Given the description of an element on the screen output the (x, y) to click on. 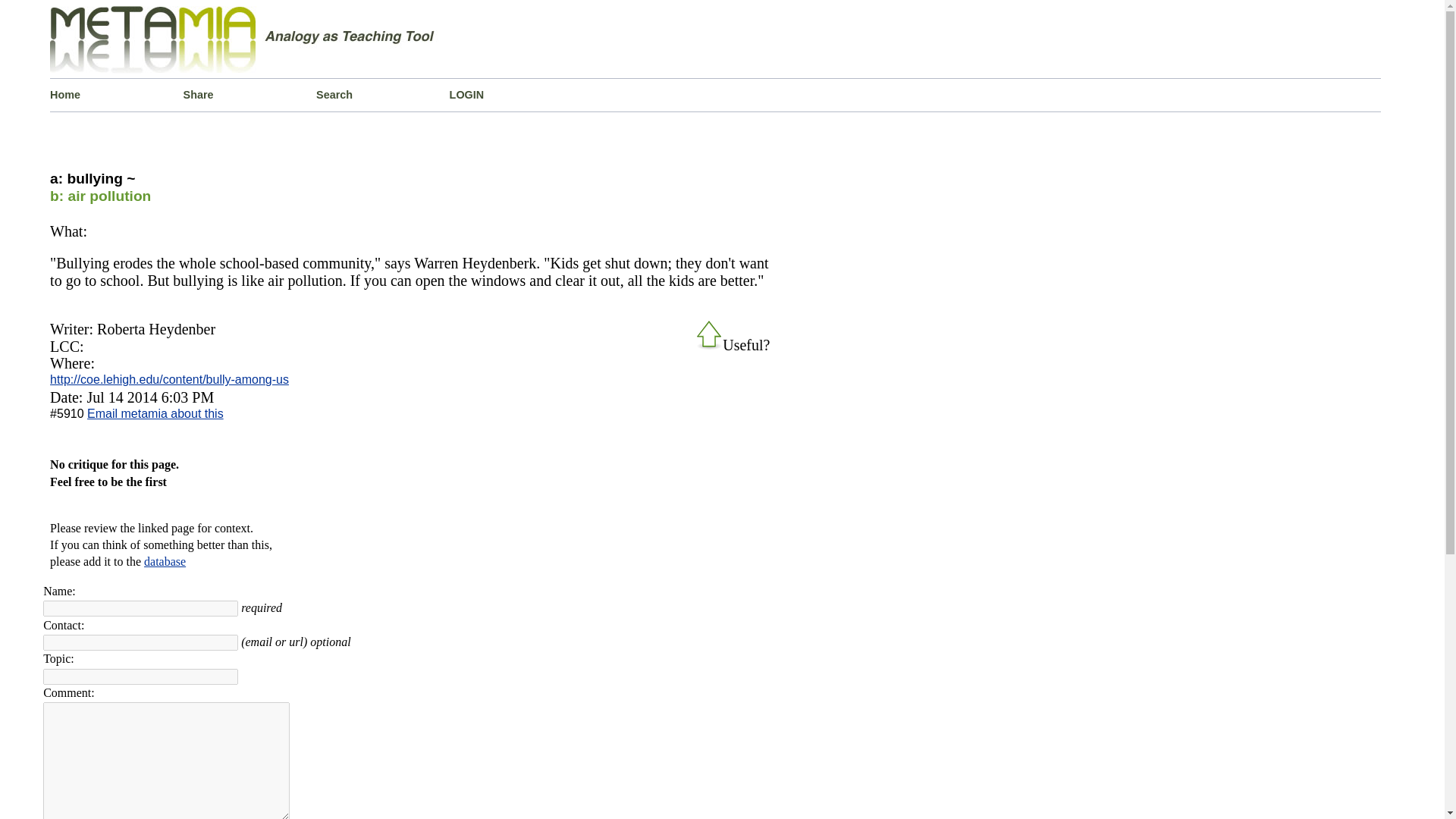
Home (116, 94)
Search (382, 94)
Share (250, 94)
LOGIN (516, 94)
Email metamia about this (155, 413)
database (165, 561)
